Given the description of an element on the screen output the (x, y) to click on. 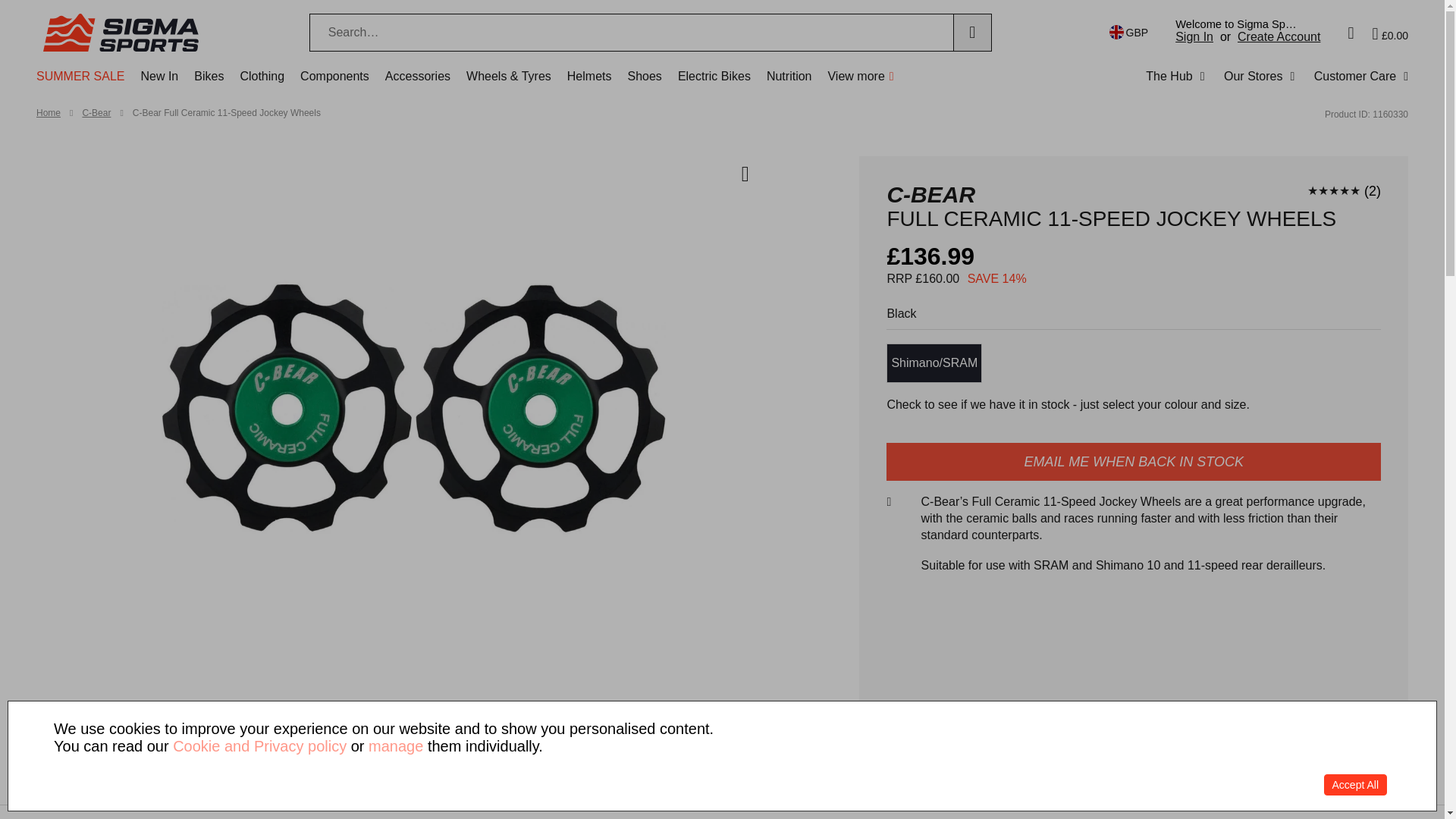
Search (972, 32)
REVIEWS (871, 812)
Search Sigma Sports (630, 32)
DESCRIPTION (526, 812)
